Given the description of an element on the screen output the (x, y) to click on. 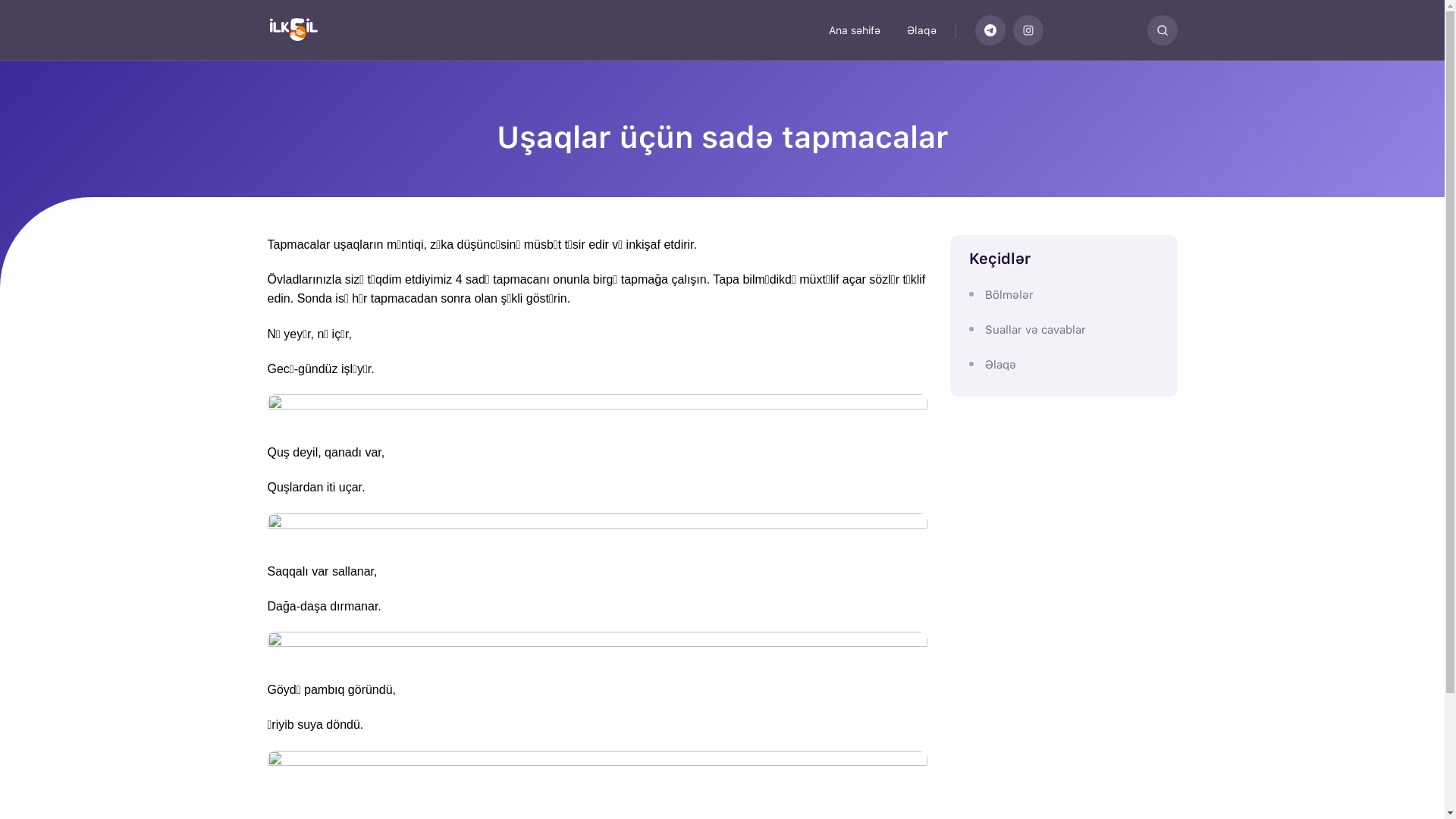
ilk5il Element type: hover (309, 30)
Telegram Element type: hover (990, 30)
Instagram Element type: hover (1028, 30)
